Given the description of an element on the screen output the (x, y) to click on. 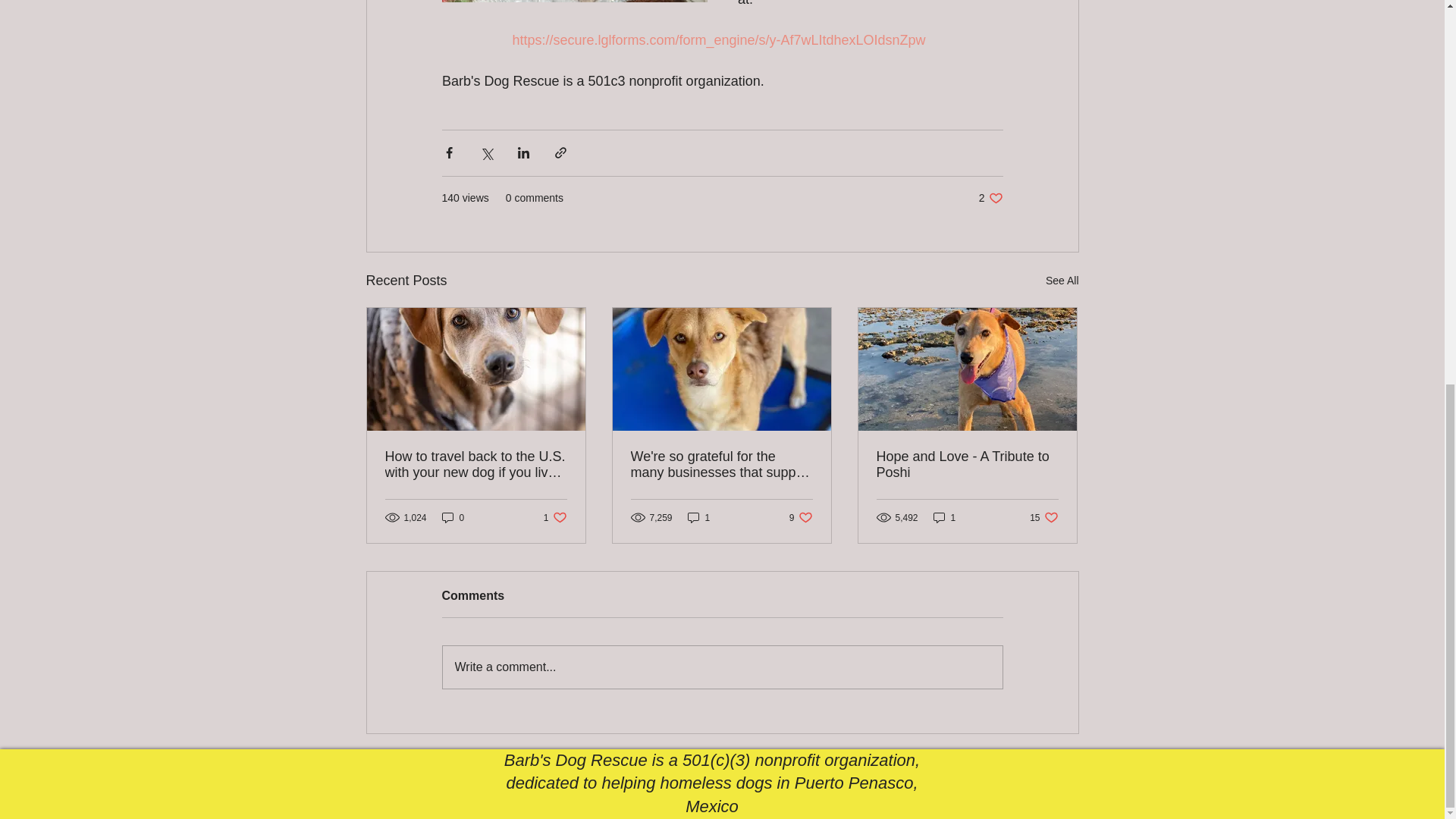
0 (453, 517)
1 (698, 517)
See All (555, 517)
